Given the description of an element on the screen output the (x, y) to click on. 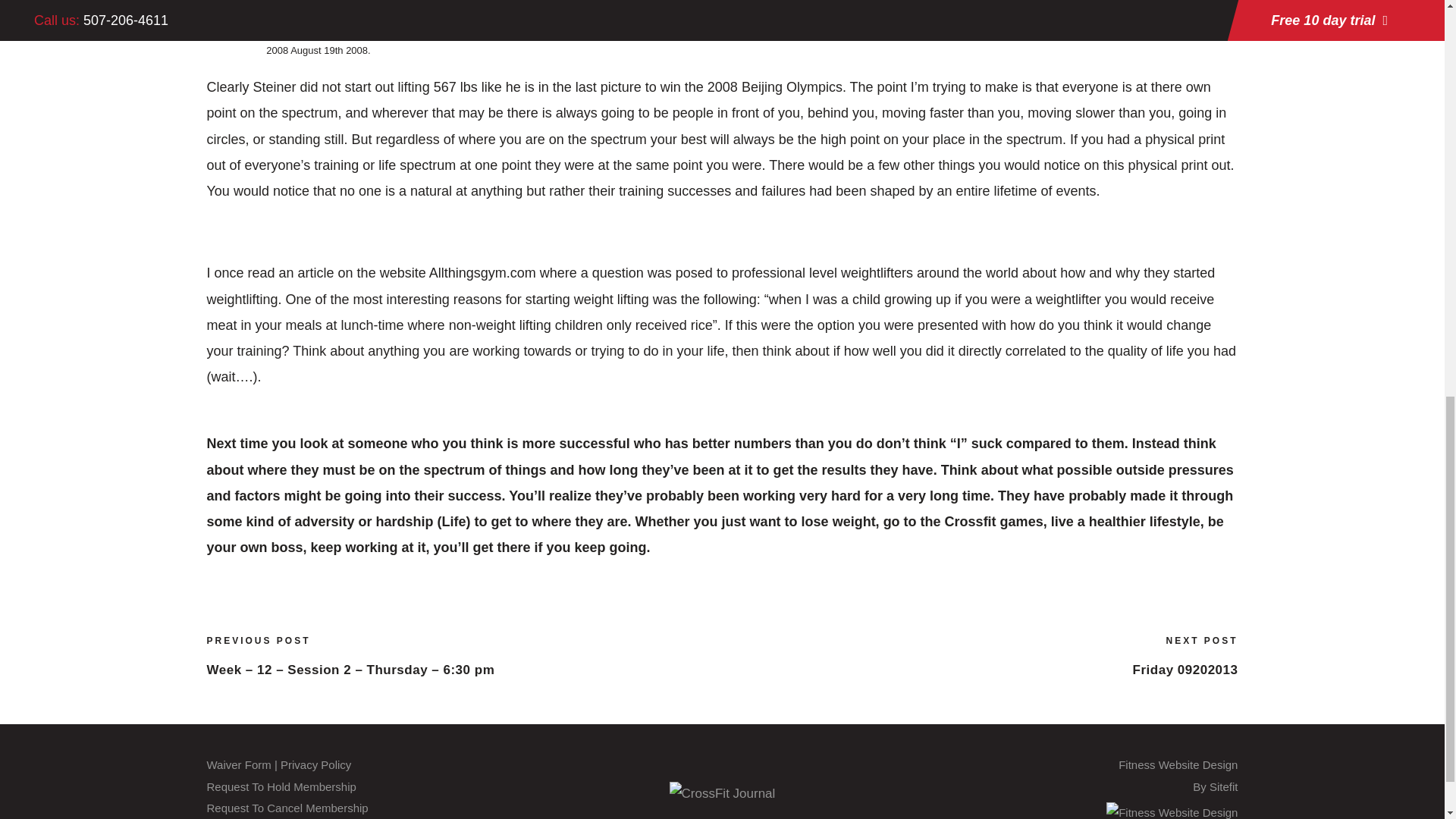
Waiver Form (238, 764)
Privacy Policy (315, 764)
Request To Hold Membership (280, 786)
Request To Cancel Membership (1177, 775)
Friday 09202013 (287, 807)
Fitness Website Design (1185, 669)
Fitness Website Design (1171, 811)
